Given the description of an element on the screen output the (x, y) to click on. 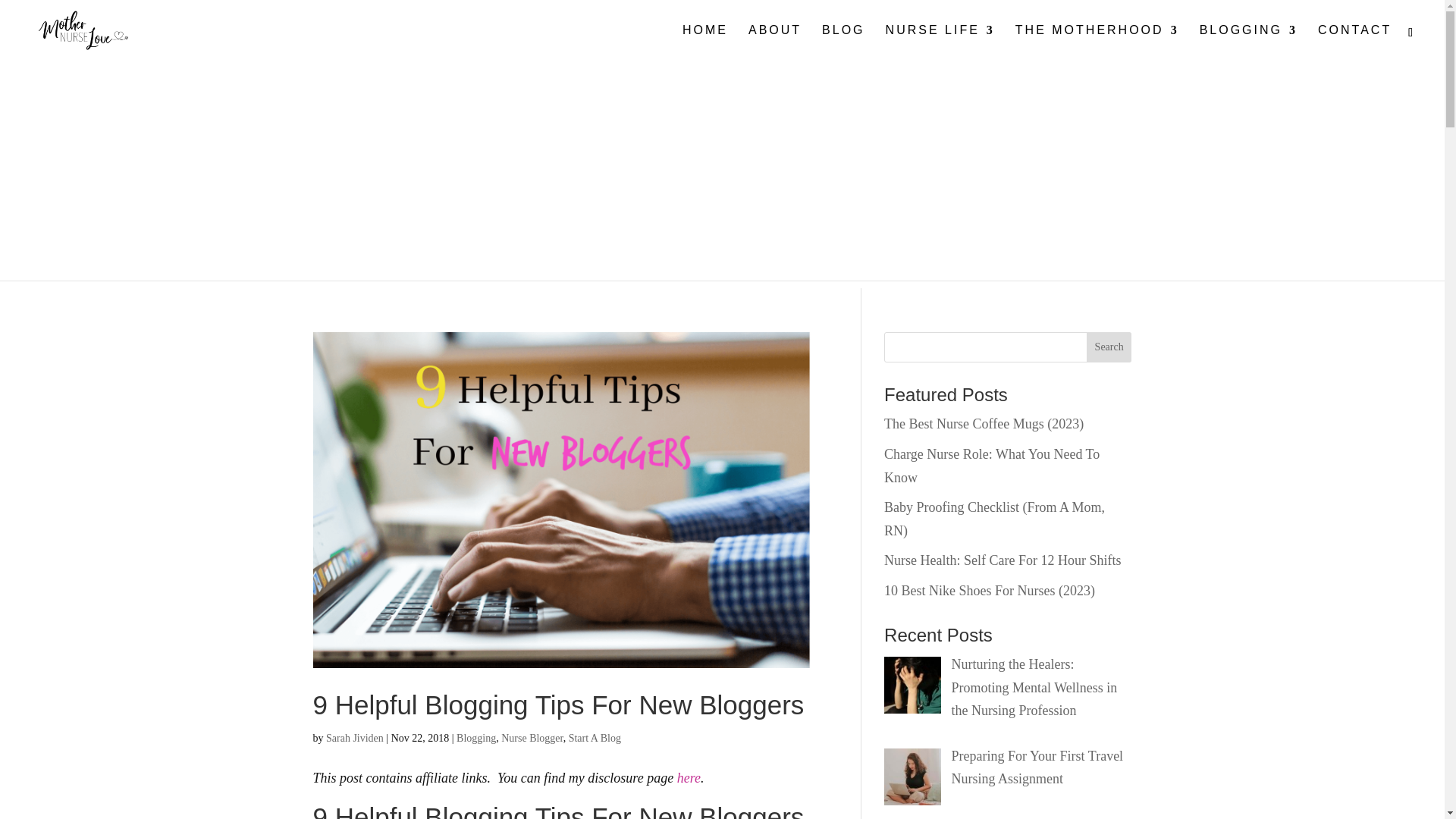
Search (1109, 347)
Posts by Sarah Jividen (355, 737)
CONTACT (1354, 42)
BLOGGING (1248, 42)
NURSE LIFE (939, 42)
BLOG (843, 42)
THE MOTHERHOOD (1096, 42)
ABOUT (775, 42)
HOME (705, 42)
